Given the description of an element on the screen output the (x, y) to click on. 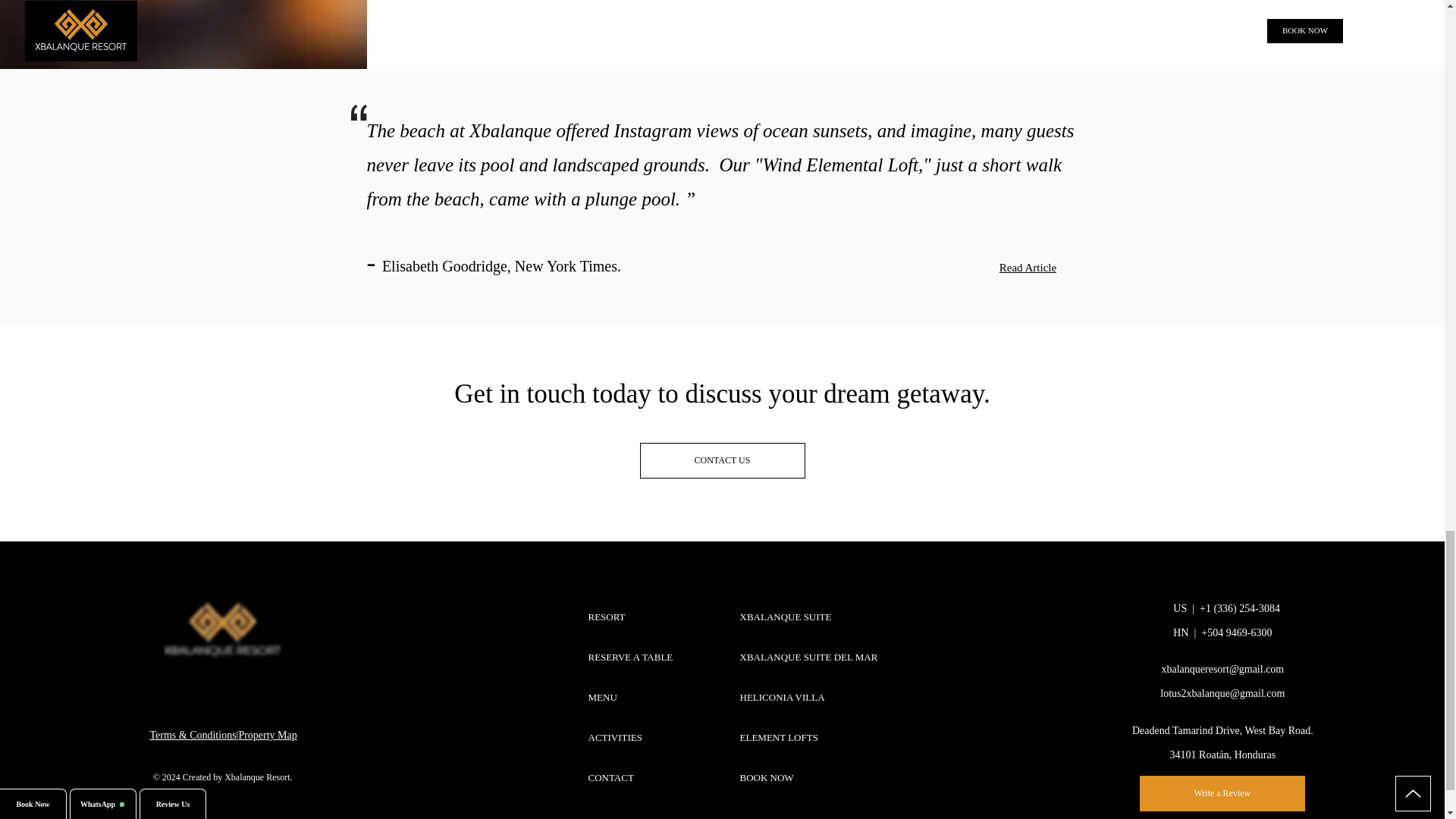
ELEMENT LOFTS (810, 737)
ACTIVITIES (629, 737)
Xbalanque Resort logo (222, 630)
MENU (629, 697)
XBALANQUE SUITE (810, 617)
RESERVE A TABLE (629, 657)
RESORT (629, 617)
XBALANQUE SUITE DEL MAR (810, 657)
CONTACT (629, 777)
BOOK NOW (810, 777)
Read Article (1027, 268)
HELICONIA VILLA (810, 697)
CONTACT US (722, 460)
Property Map (267, 735)
